Given the description of an element on the screen output the (x, y) to click on. 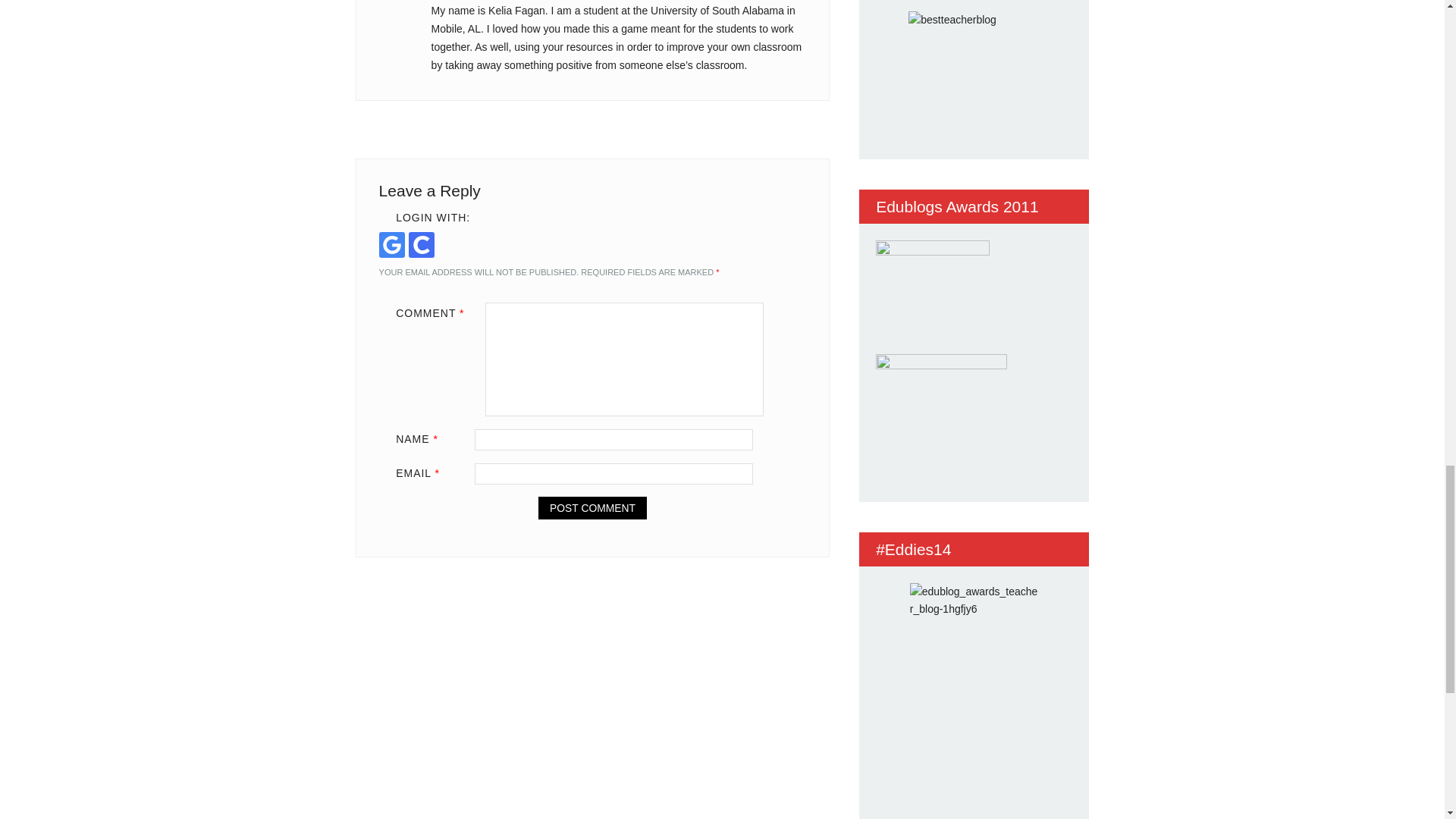
Subscribe me! (1027, 292)
Continue with Clever (421, 244)
Continue with Google (391, 244)
Post Comment (592, 507)
